Given the description of an element on the screen output the (x, y) to click on. 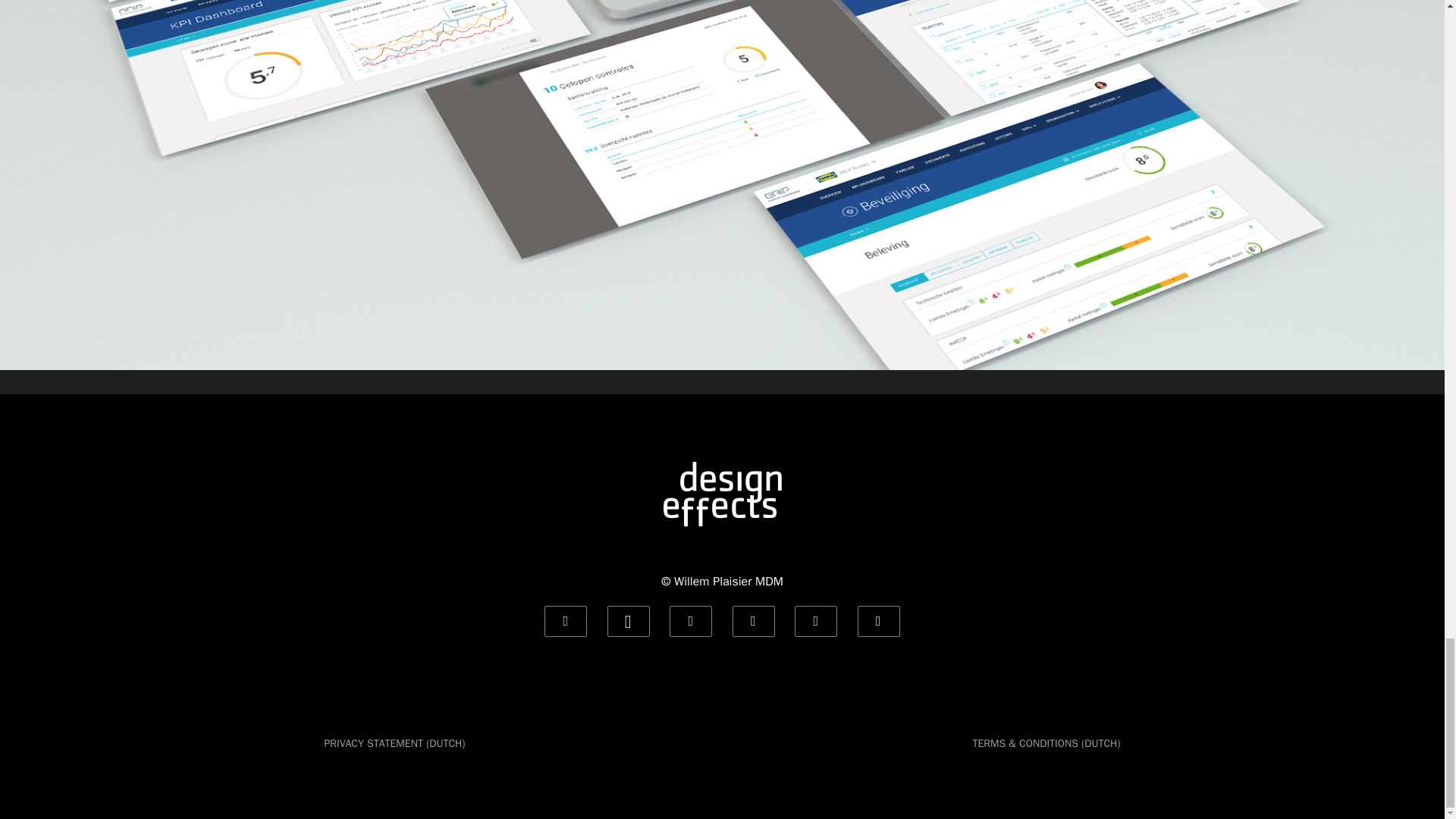
Privacy Statemement (394, 743)
Twitter Design Effects (878, 621)
Skype Design Effects (815, 621)
Call Design Effects (628, 621)
Facebook Design Effects (753, 621)
Email Design Effects (565, 621)
LinkedIn Design Effects (690, 621)
